Given the description of an element on the screen output the (x, y) to click on. 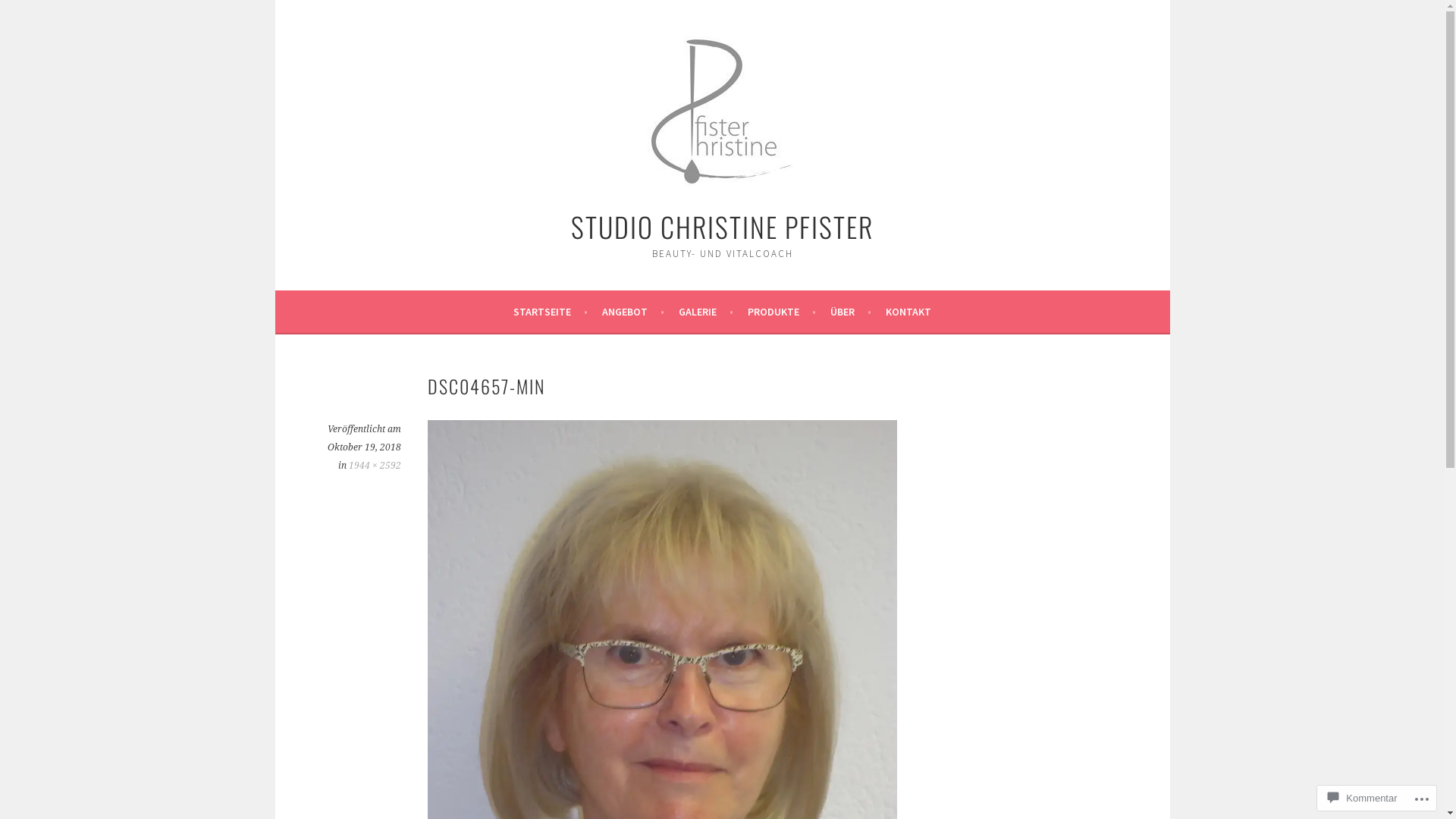
ANGEBOT Element type: text (633, 311)
GALERIE Element type: text (705, 311)
Kommentar Element type: text (1361, 797)
STARTSEITE Element type: text (550, 311)
STUDIO CHRISTINE PFISTER Element type: text (722, 226)
PRODUKTE Element type: text (781, 311)
KONTAKT Element type: text (908, 311)
